Given the description of an element on the screen output the (x, y) to click on. 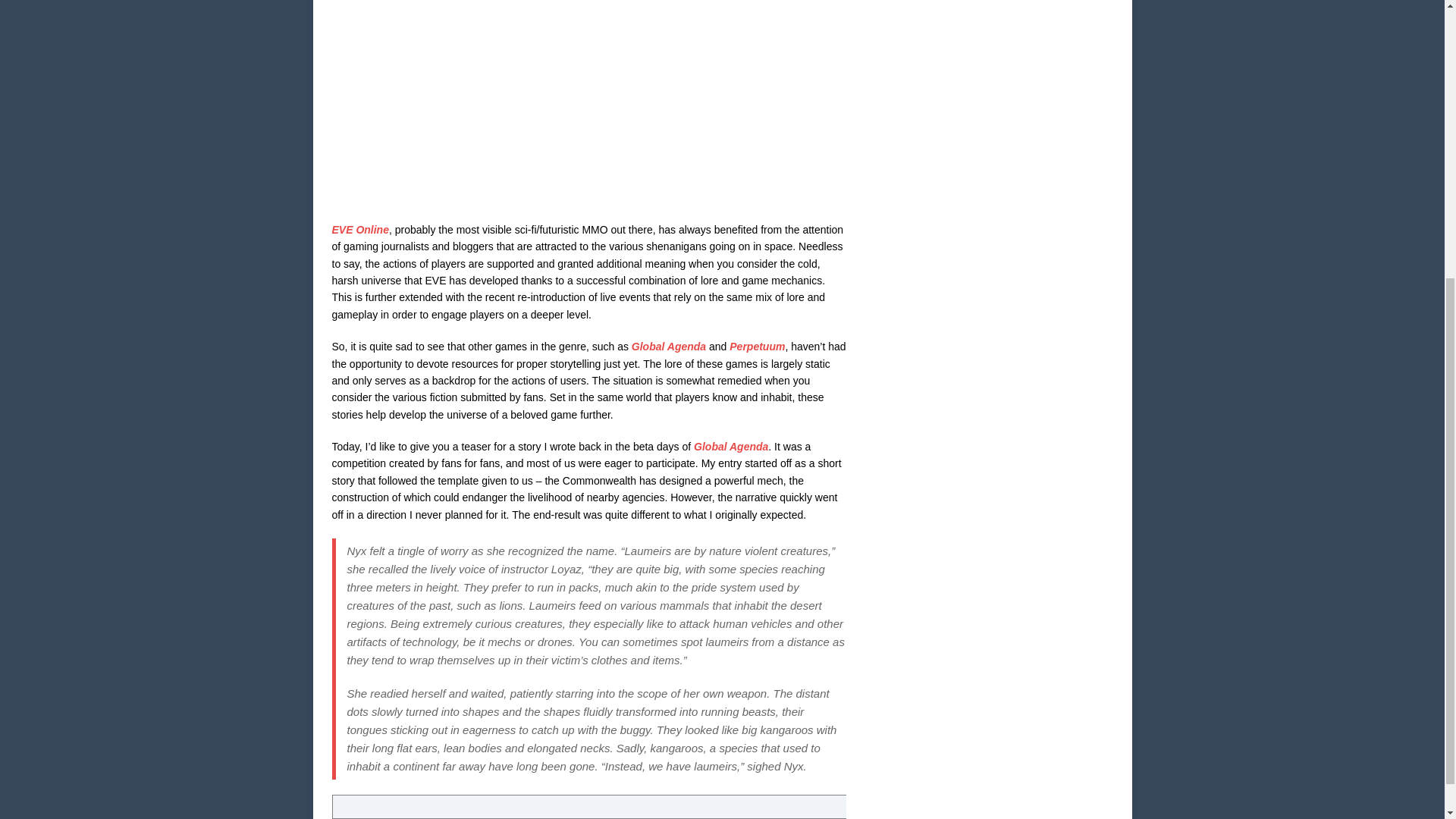
EVE Online (359, 229)
GA-HQ (588, 103)
Perpetuum (756, 346)
Global Agenda (731, 446)
Global Agenda (668, 346)
